Given the description of an element on the screen output the (x, y) to click on. 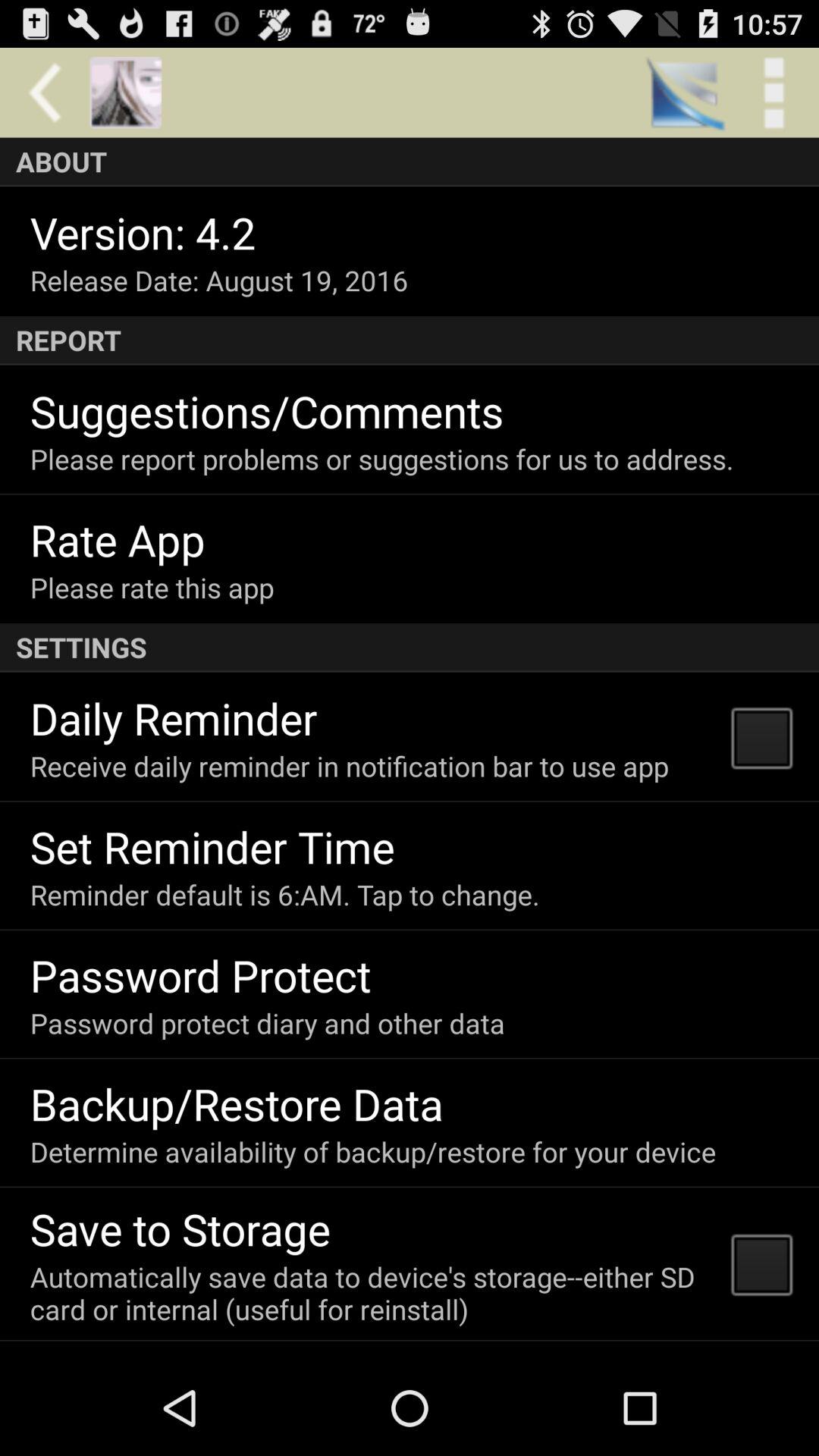
select icon below please rate this icon (409, 647)
